Given the description of an element on the screen output the (x, y) to click on. 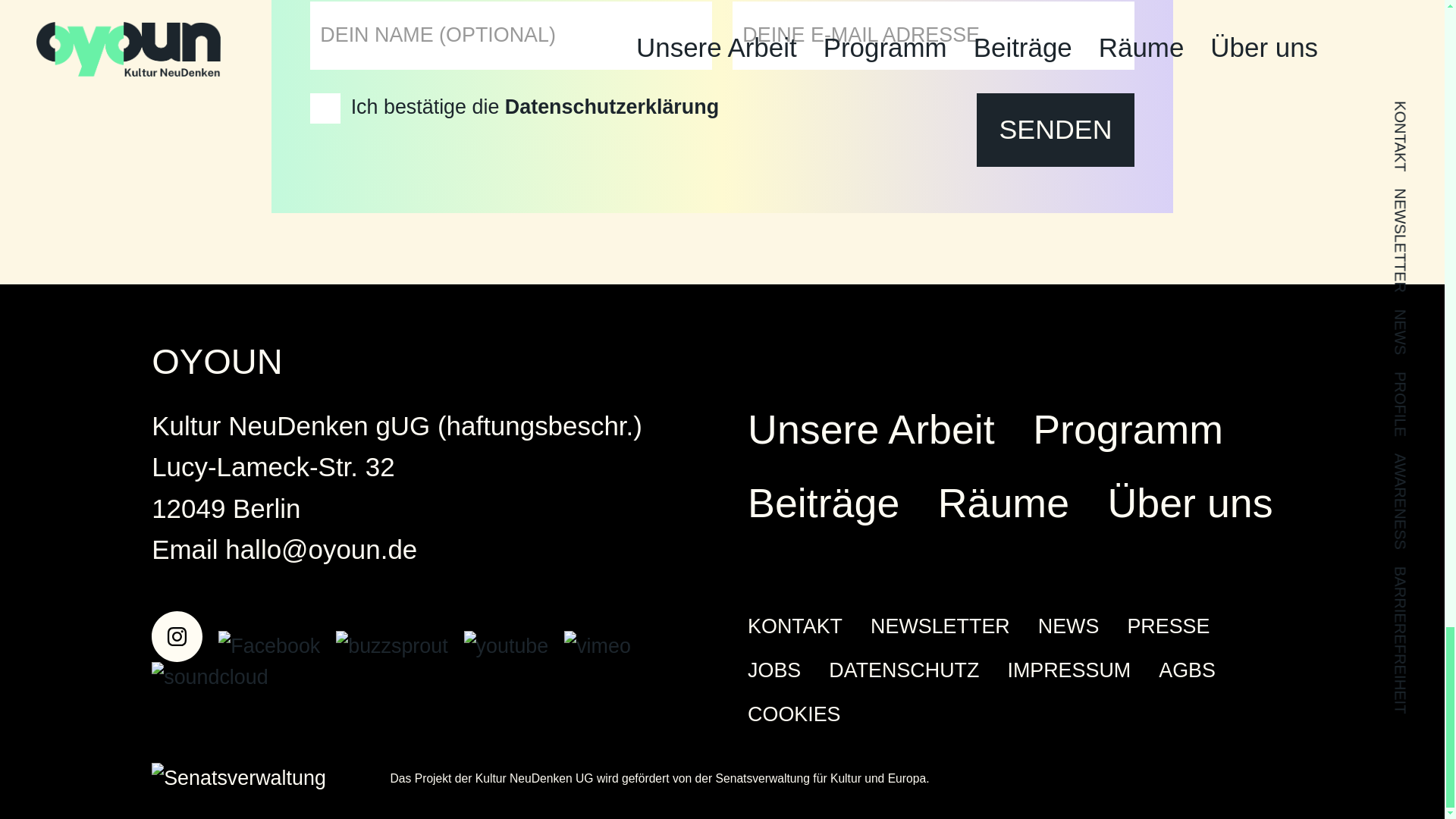
Instagram (184, 645)
youtube (514, 645)
Facebook (277, 645)
SENDEN (1055, 130)
soundcloud (214, 676)
buzzsprout (399, 645)
vimeo (602, 645)
